Given the description of an element on the screen output the (x, y) to click on. 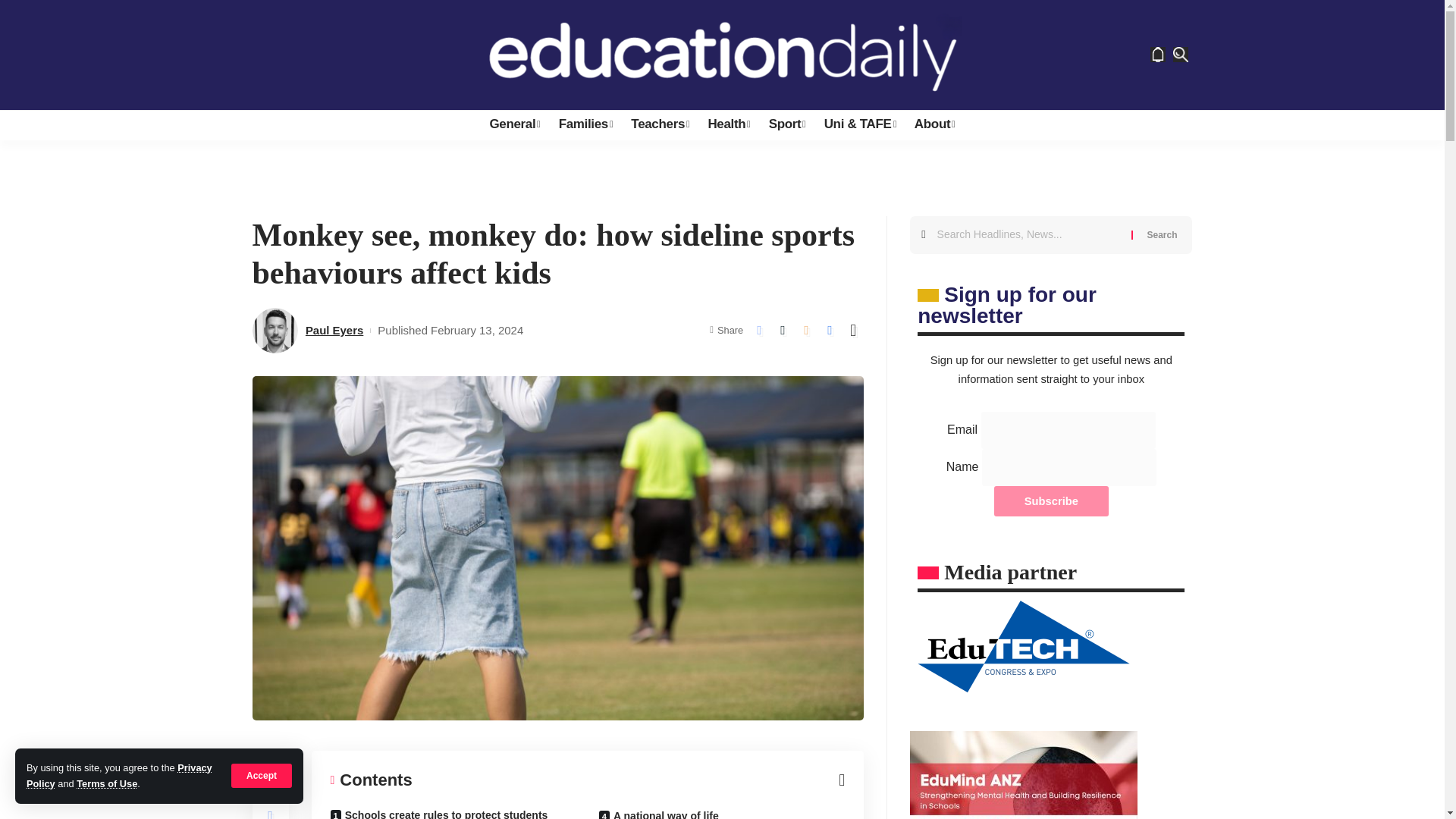
EducationDaily (721, 54)
Subscribe (1051, 501)
General (514, 124)
Privacy Policy (119, 775)
Accept (261, 775)
Terms of Use (106, 783)
Families (586, 124)
Search (1161, 234)
Teachers (659, 124)
